Given the description of an element on the screen output the (x, y) to click on. 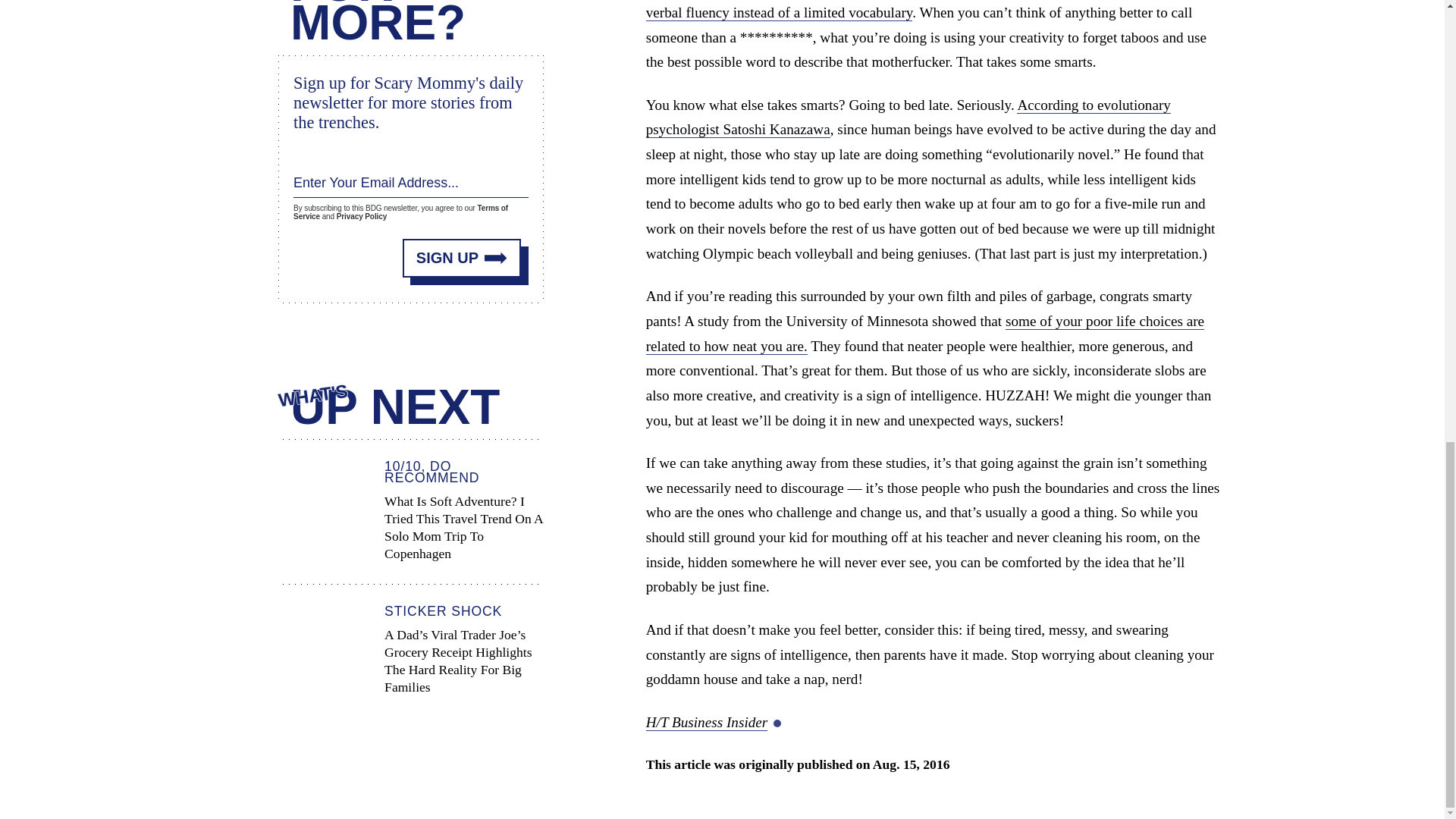
According to evolutionary psychologist Satoshi Kanazawa (908, 117)
SIGN UP (462, 256)
Privacy Policy (361, 216)
Terms of Service (401, 211)
